Given the description of an element on the screen output the (x, y) to click on. 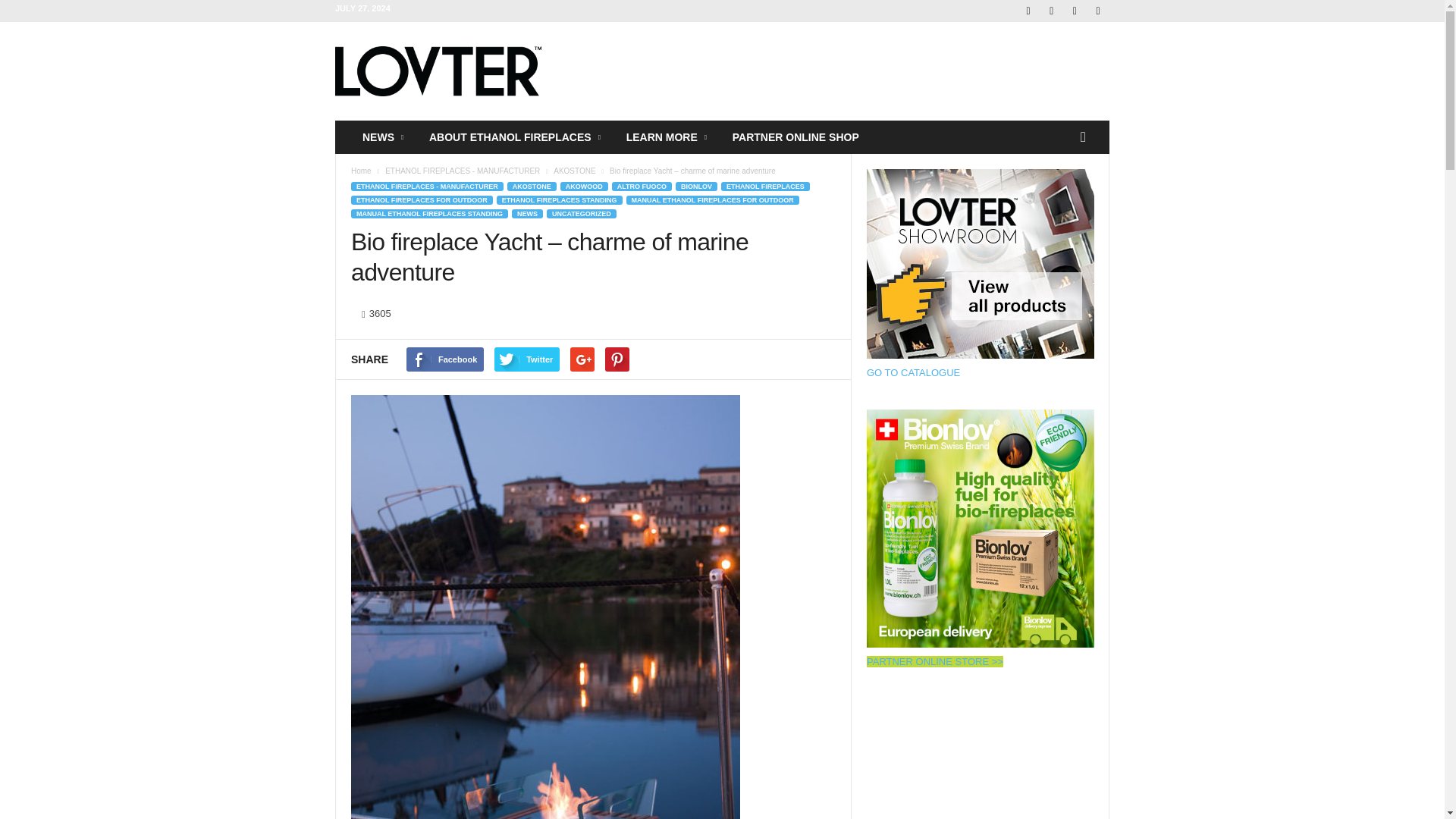
Youtube (1097, 11)
Facebook (1027, 11)
NEWS (383, 136)
LOVTER (437, 70)
ABOUT ETHANOL FIREPLACES (515, 136)
VKontakte (1074, 11)
